Given the description of an element on the screen output the (x, y) to click on. 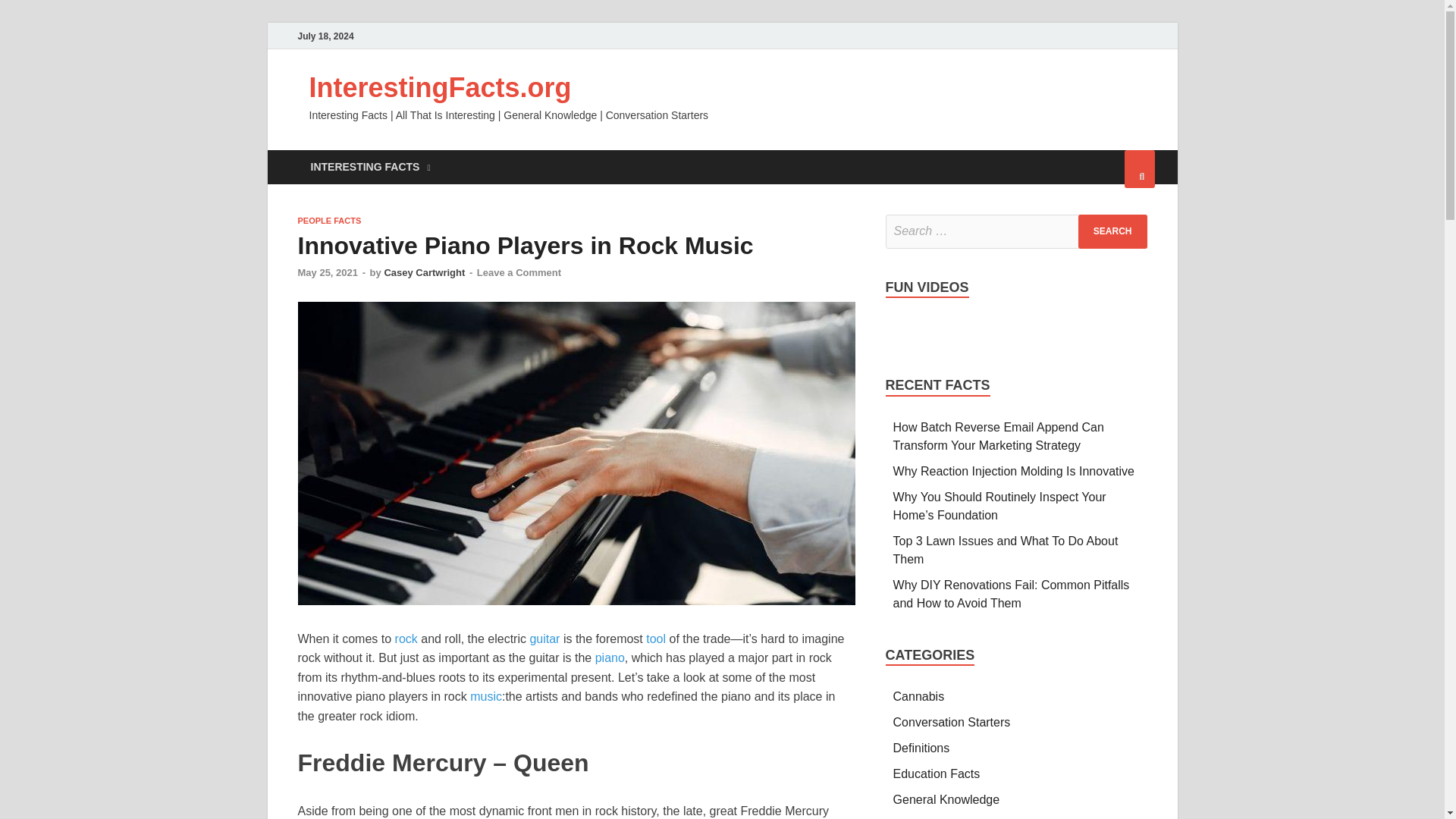
Casey Cartwright (424, 272)
Leave a Comment (518, 272)
guitar (544, 638)
Search (1112, 231)
InterestingFacts.org (440, 87)
Search (1112, 231)
rock (405, 638)
music (486, 696)
PEOPLE FACTS (329, 220)
tool (655, 638)
INTERESTING FACTS (369, 166)
piano (609, 657)
May 25, 2021 (327, 272)
